Given the description of an element on the screen output the (x, y) to click on. 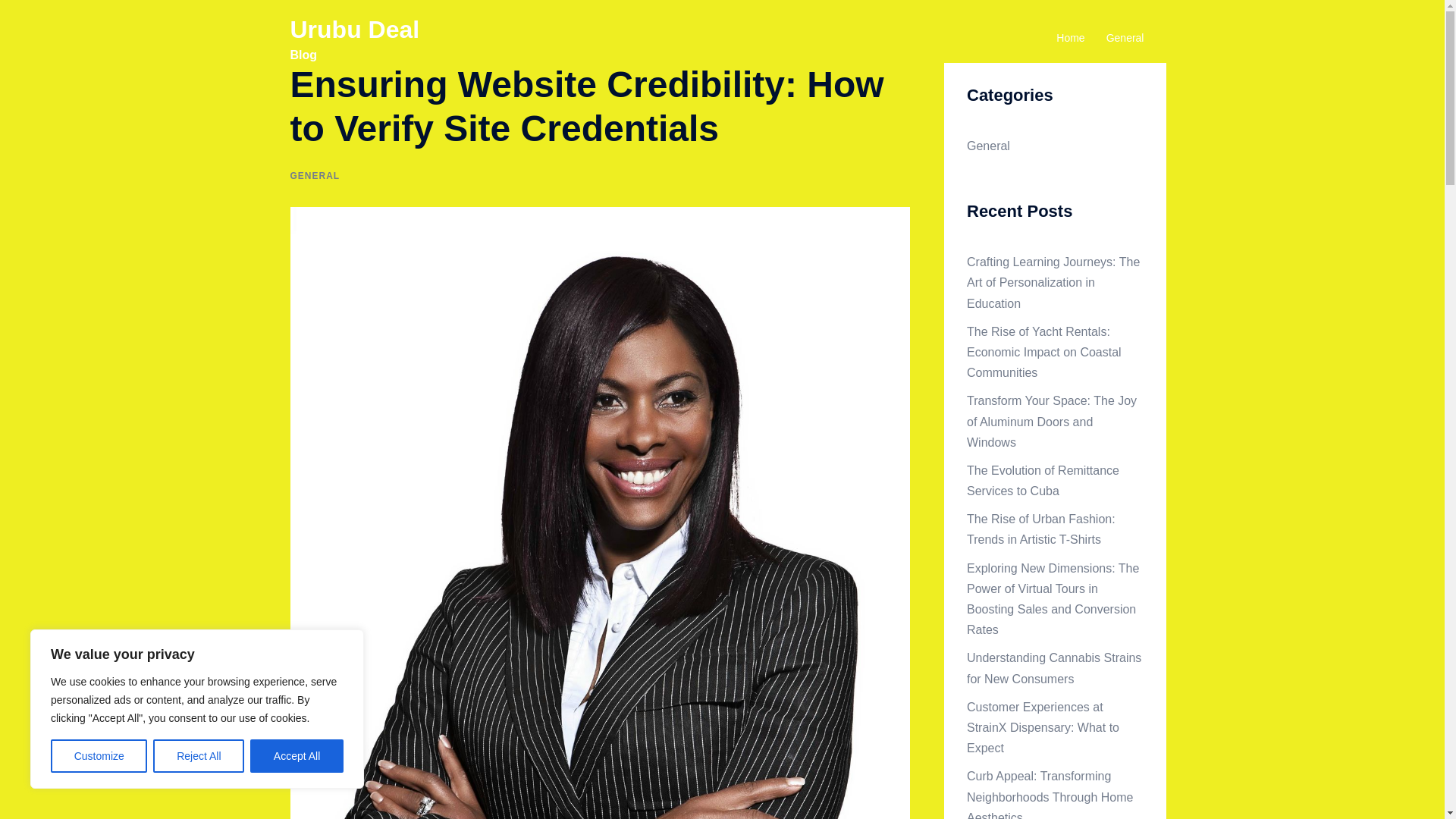
Accept All (296, 756)
The Evolution of Remittance Services to Cuba (1042, 480)
General (1125, 38)
Urubu Deal (354, 29)
Reject All (198, 756)
The Rise of Urban Fashion: Trends in Artistic T-Shirts (1040, 529)
Transform Your Space: The Joy of Aluminum Doors and Windows (1051, 420)
General (988, 145)
Customize (98, 756)
Home (1070, 38)
